Given the description of an element on the screen output the (x, y) to click on. 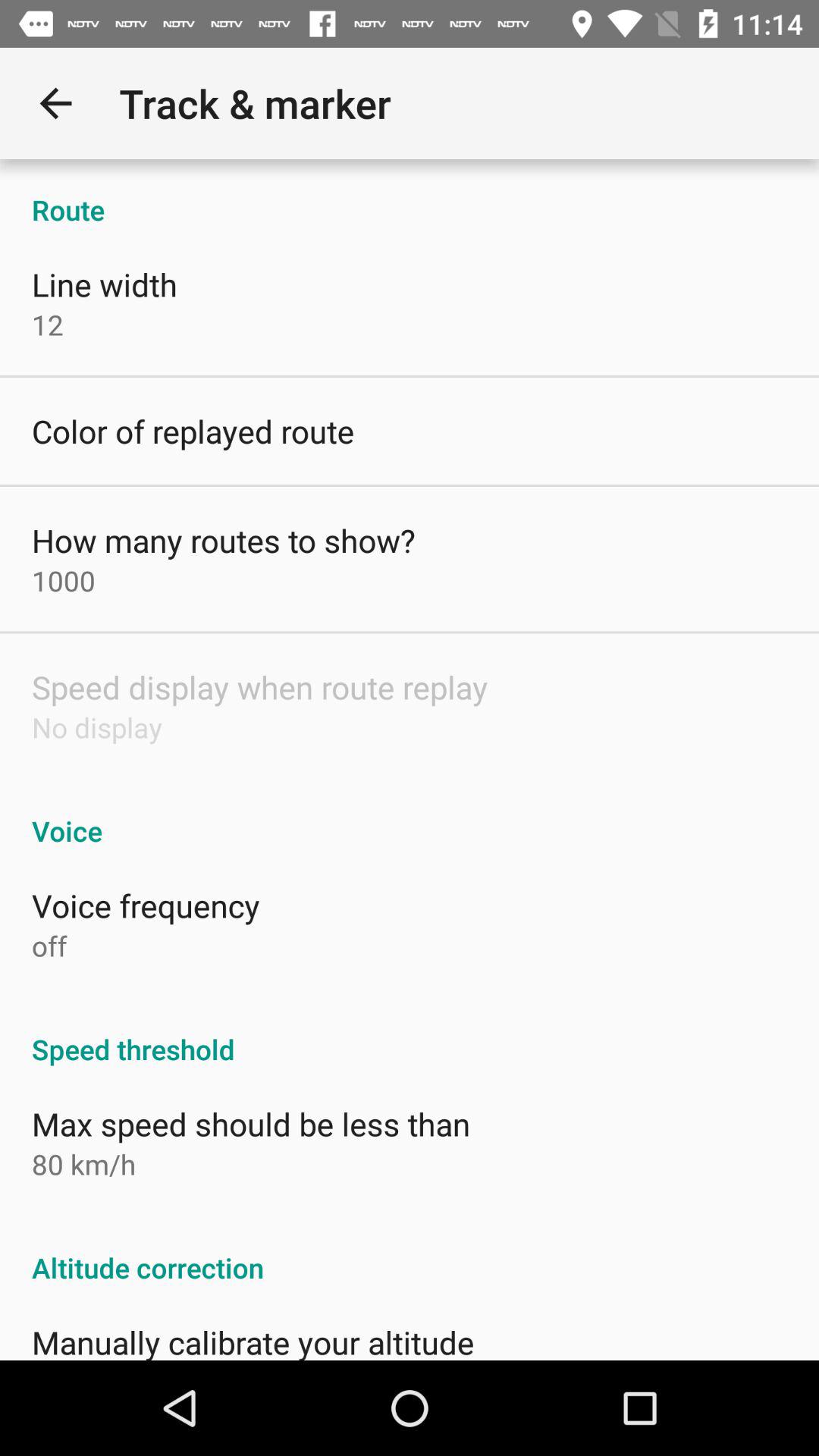
choose the manually calibrate your item (252, 1340)
